Given the description of an element on the screen output the (x, y) to click on. 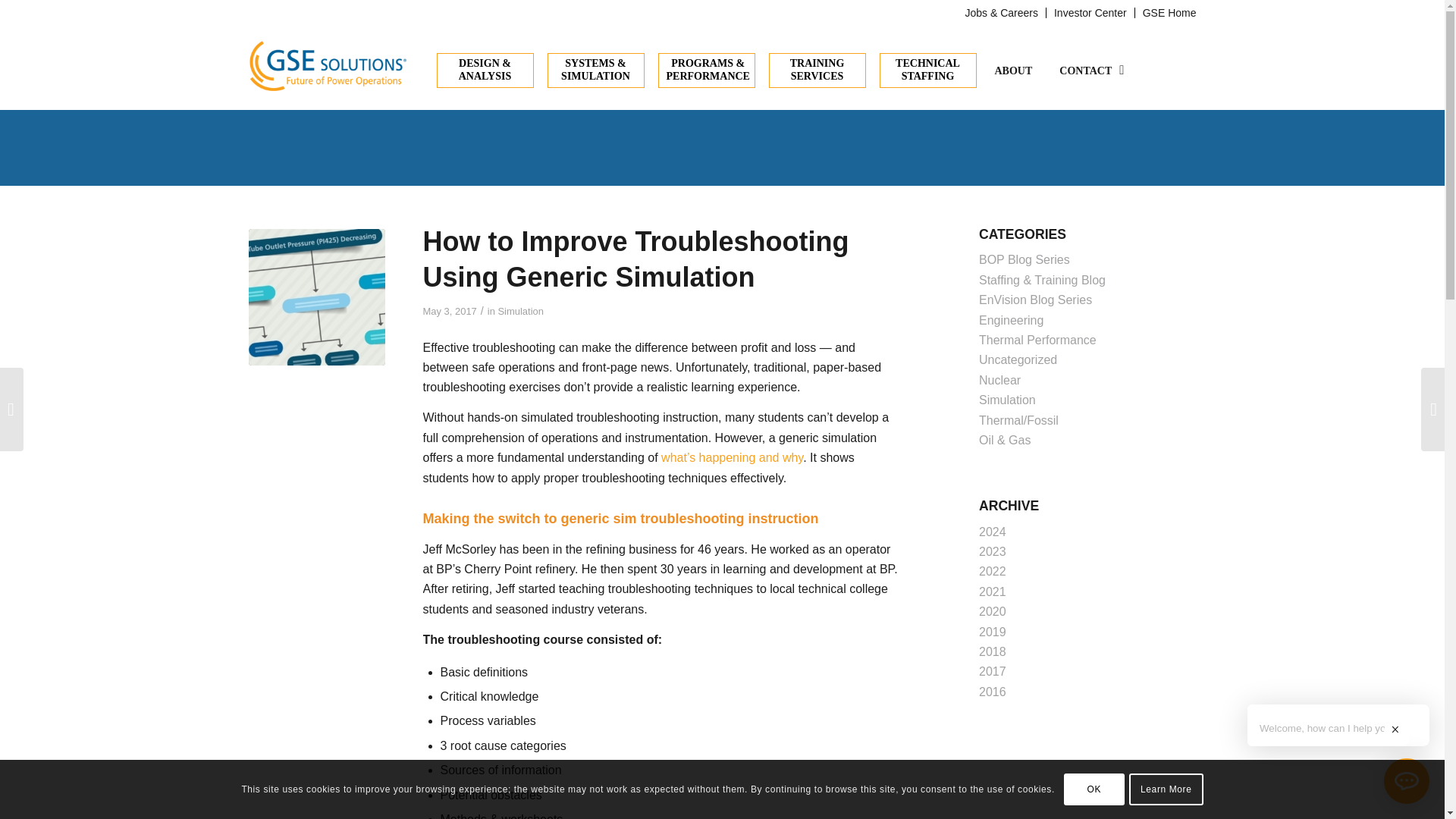
Thermal Performance Analysts (316, 297)
Investor Center (1090, 12)
GSE Home (1169, 12)
